Given the description of an element on the screen output the (x, y) to click on. 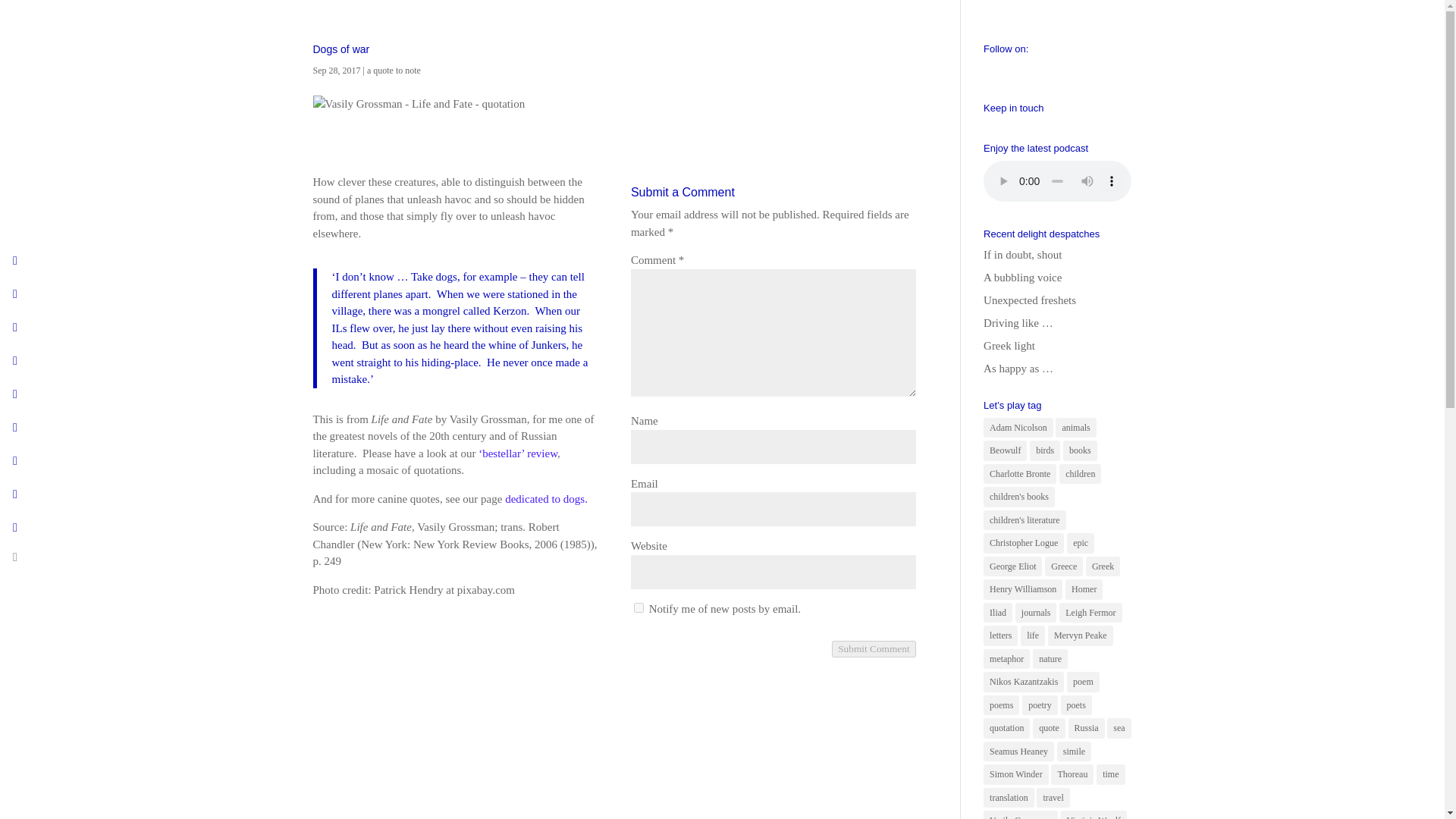
dedicated to dogs. (546, 499)
a quote to note (393, 70)
Submit Comment (873, 648)
subscribe (638, 606)
